Given the description of an element on the screen output the (x, y) to click on. 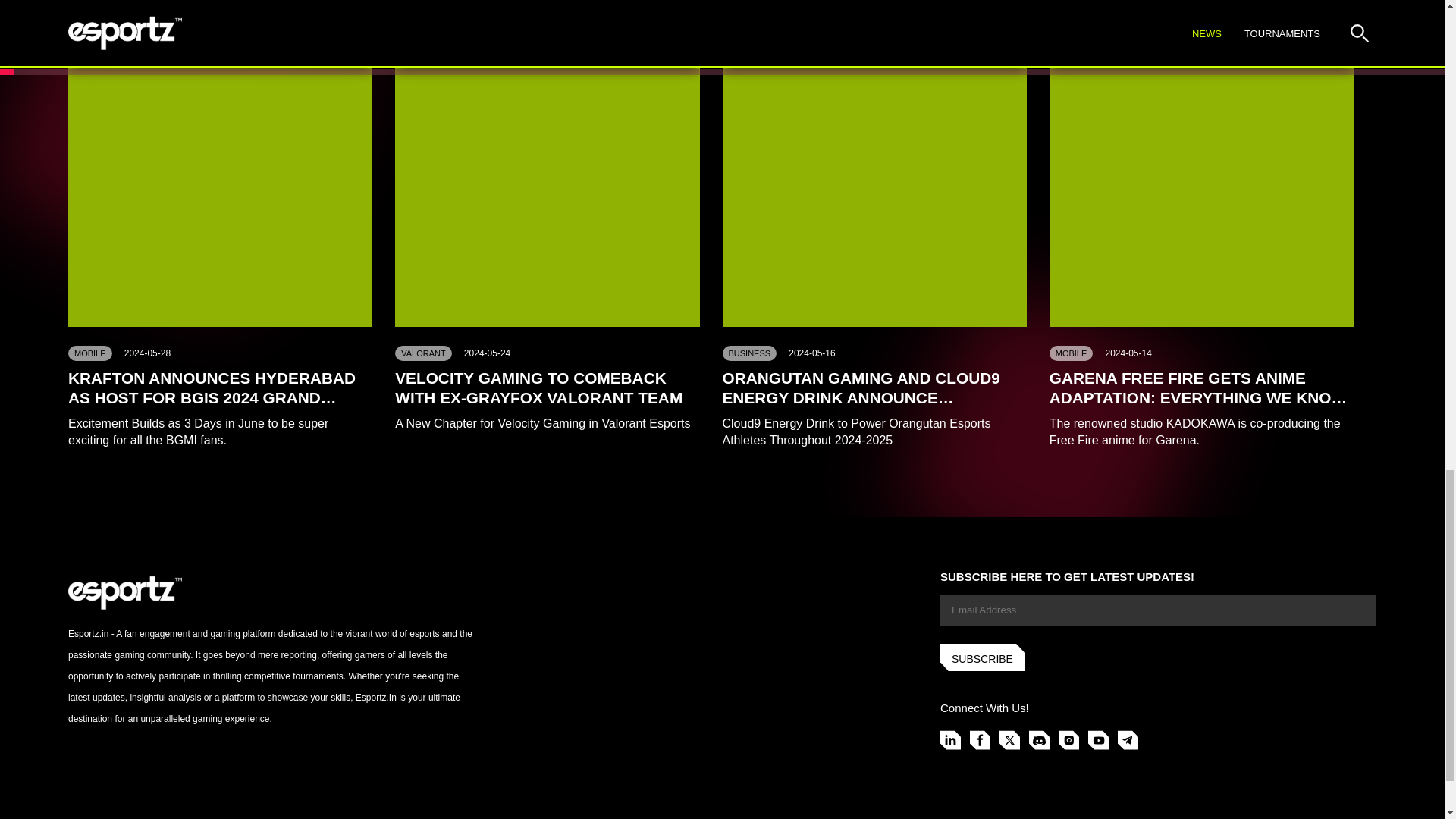
Esportz (125, 592)
Subscribe (982, 657)
